Given the description of an element on the screen output the (x, y) to click on. 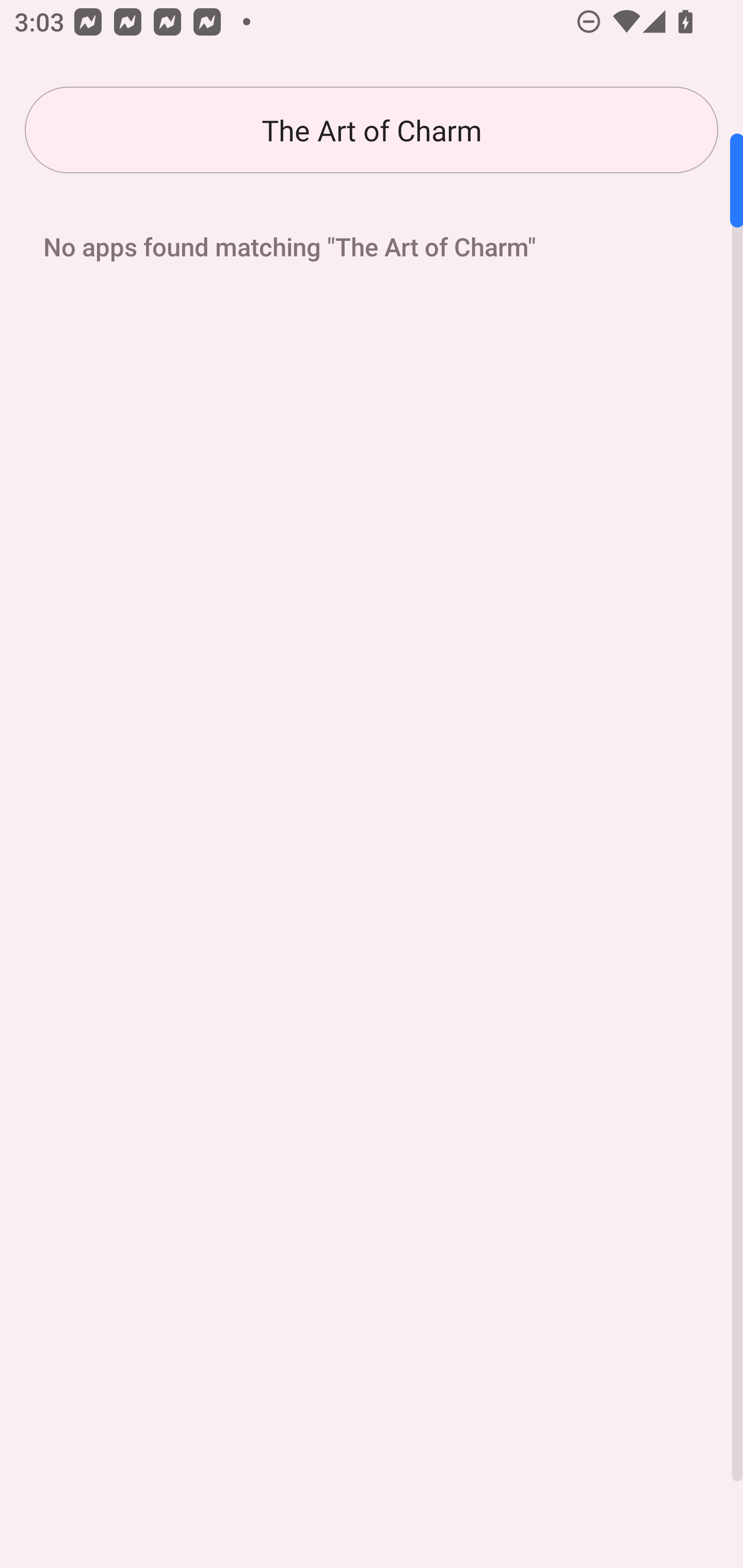
The Art of Charm (371, 130)
